Given the description of an element on the screen output the (x, y) to click on. 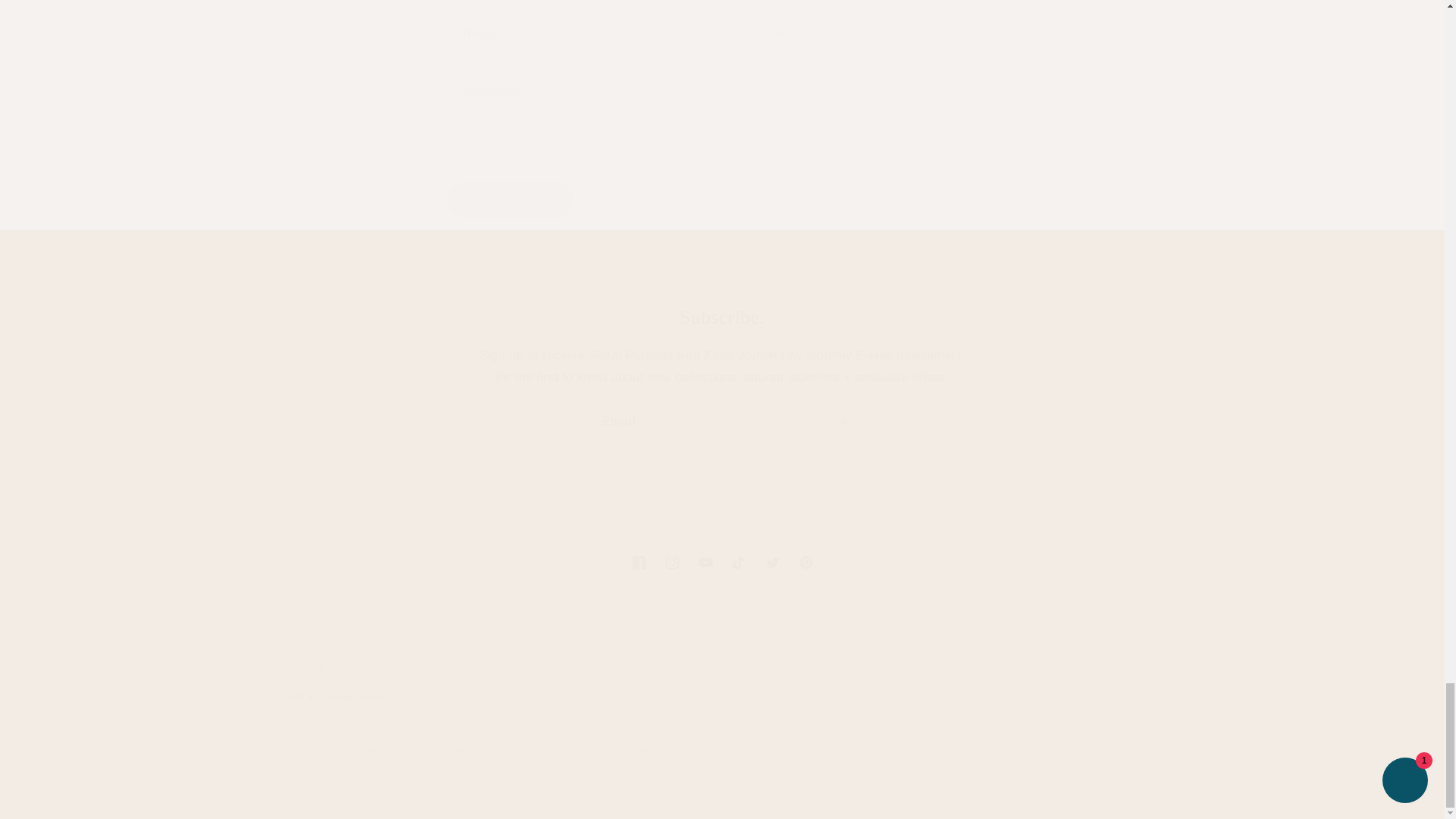
Email (721, 562)
Post comment (722, 421)
Subscribe. (510, 199)
